Given the description of an element on the screen output the (x, y) to click on. 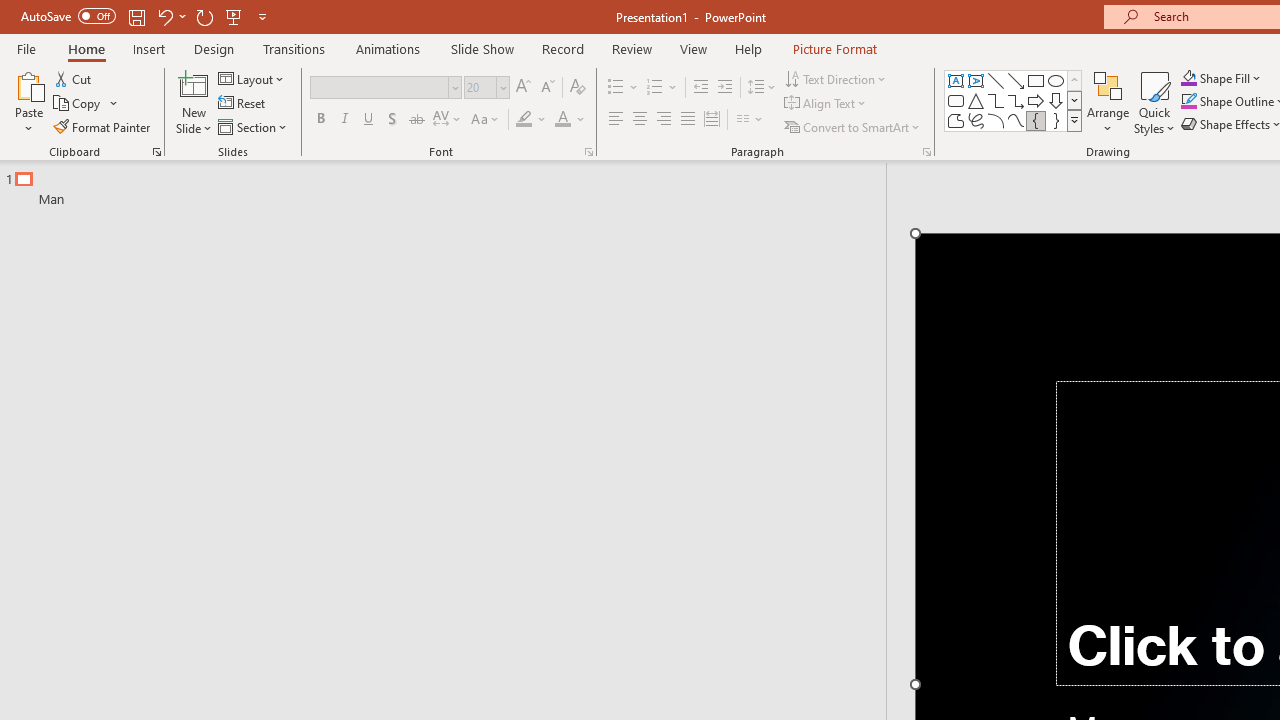
Picture Format (834, 48)
